Given the description of an element on the screen output the (x, y) to click on. 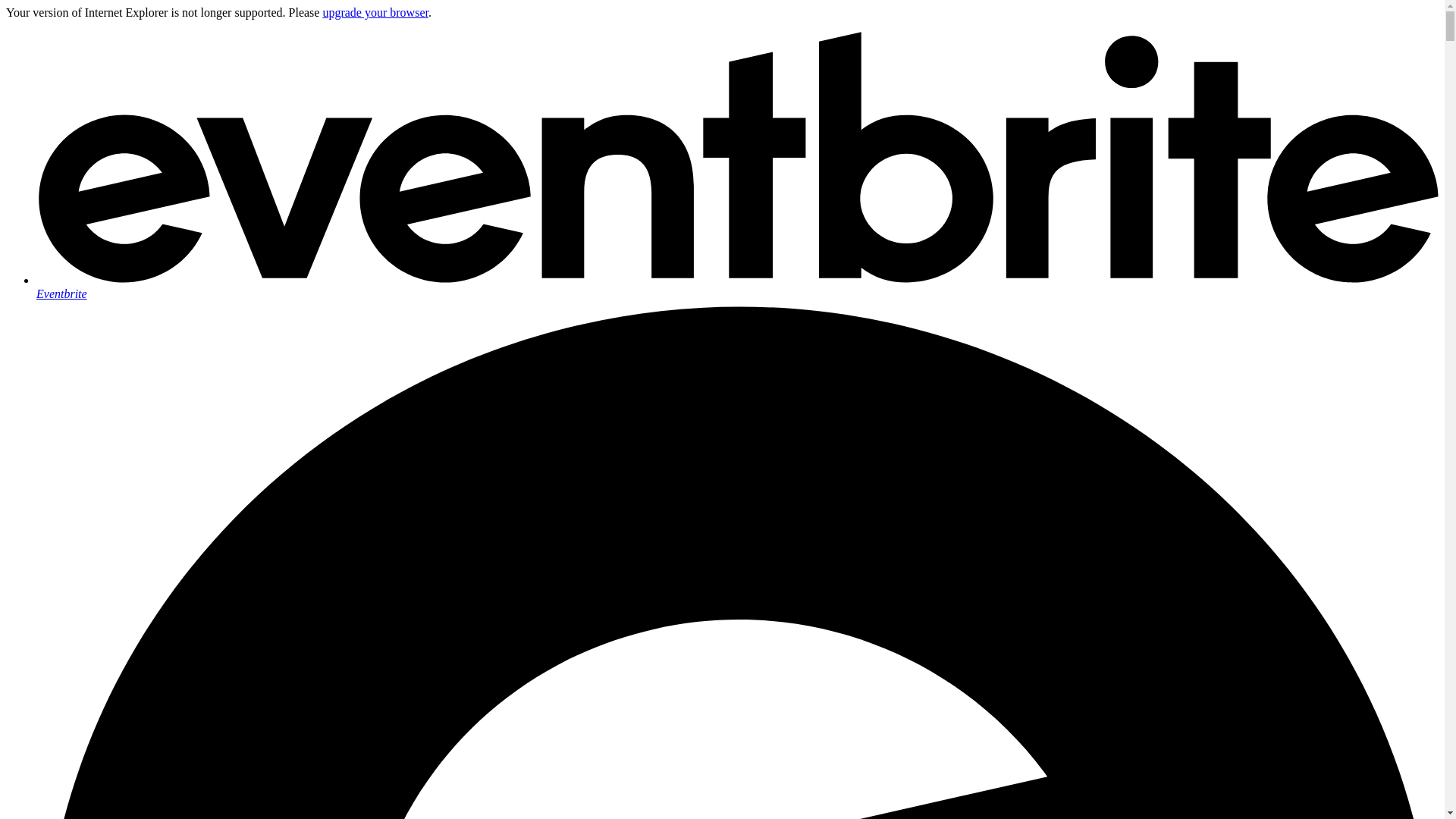
upgrade your browser Element type: text (375, 12)
Eventbrite Element type: text (737, 286)
